Given the description of an element on the screen output the (x, y) to click on. 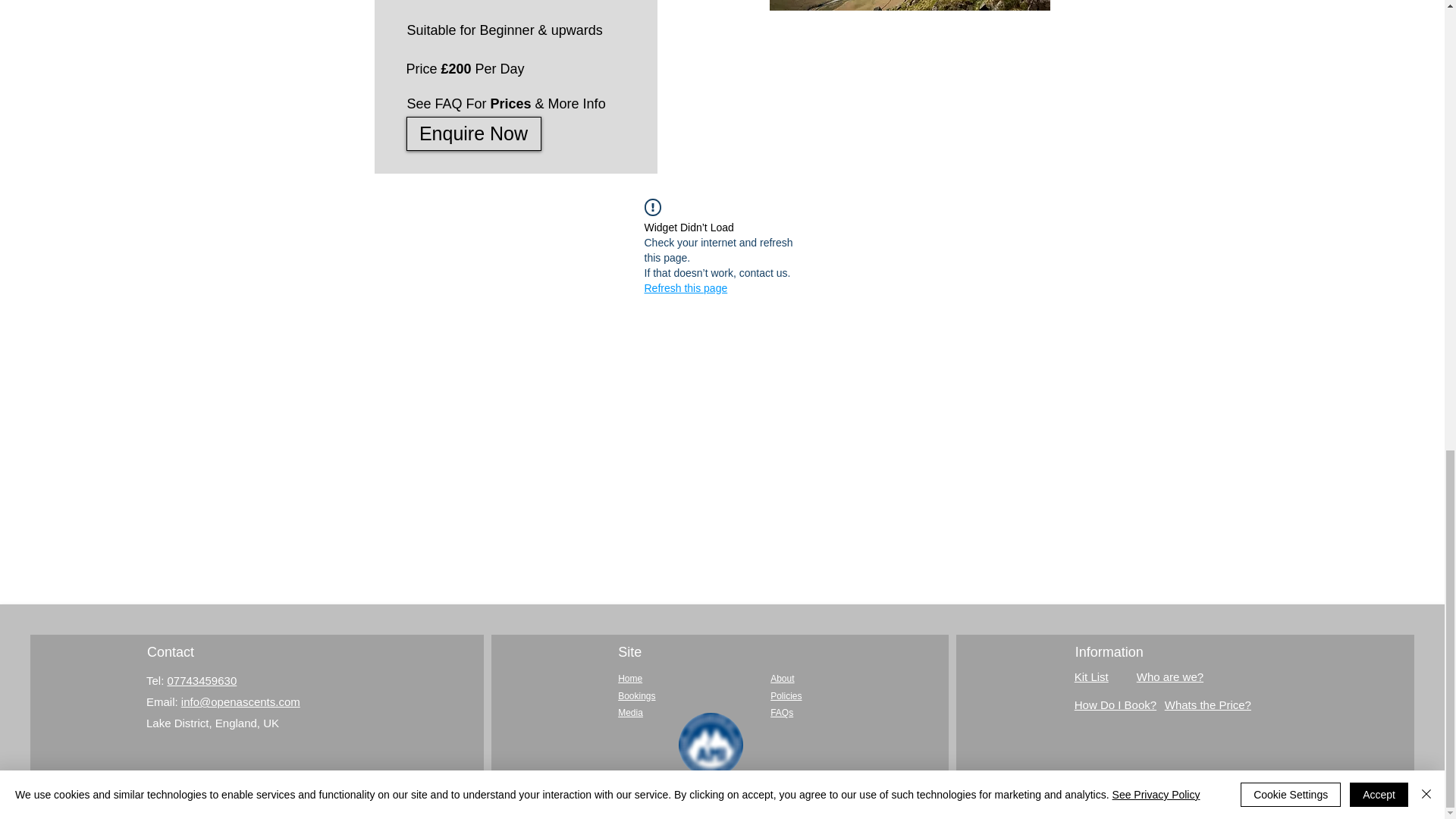
07743459630 (201, 680)
Refresh this page (686, 287)
Bookings (636, 695)
Enquire Now (473, 133)
Media (630, 712)
Home (629, 678)
